Given the description of an element on the screen output the (x, y) to click on. 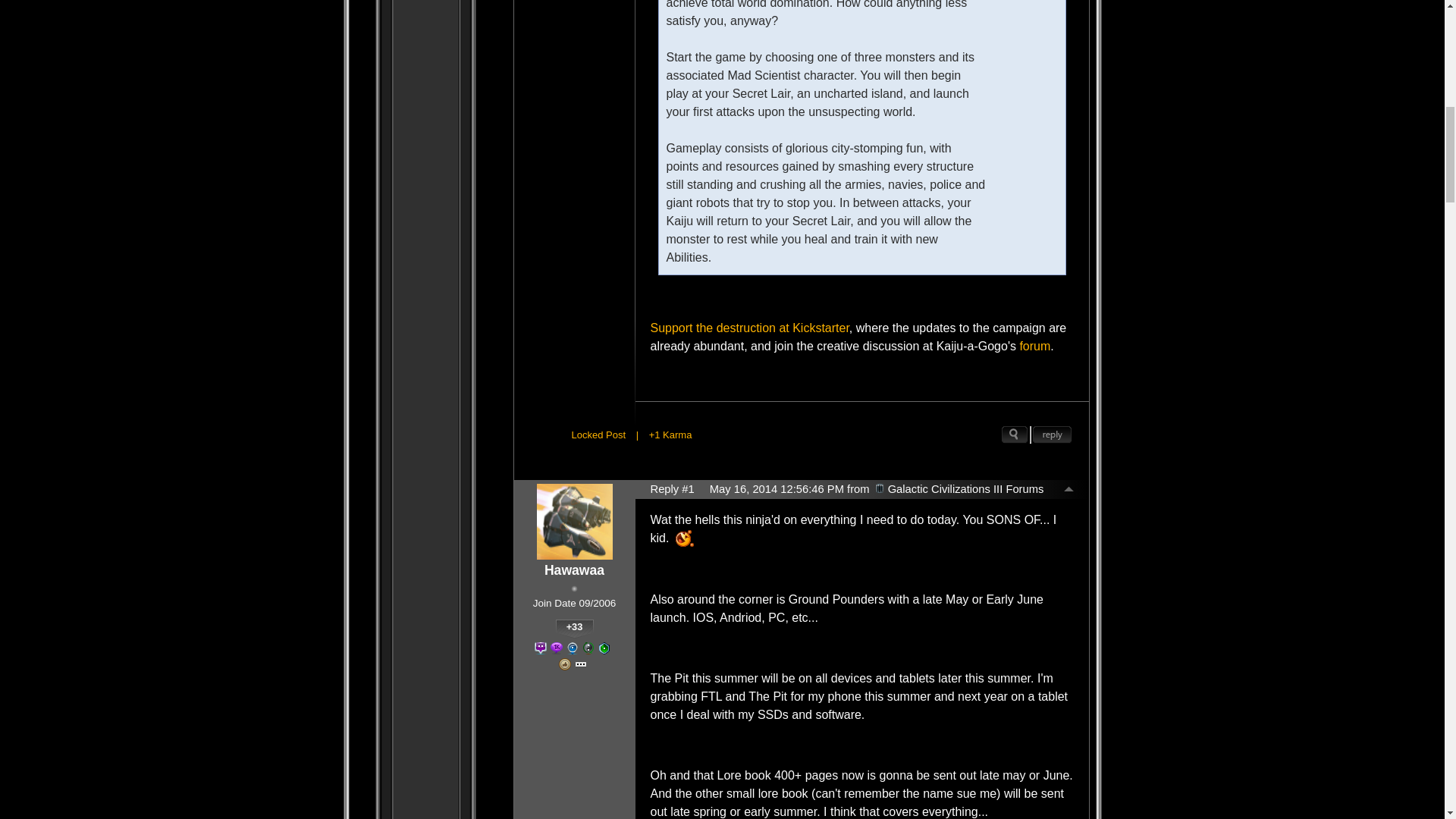
Click user name to view more options. (574, 570)
Reply to this post (1051, 434)
Rank: 1 (574, 588)
View Hawawaa's Karma (573, 629)
Search this post (1014, 434)
